Given the description of an element on the screen output the (x, y) to click on. 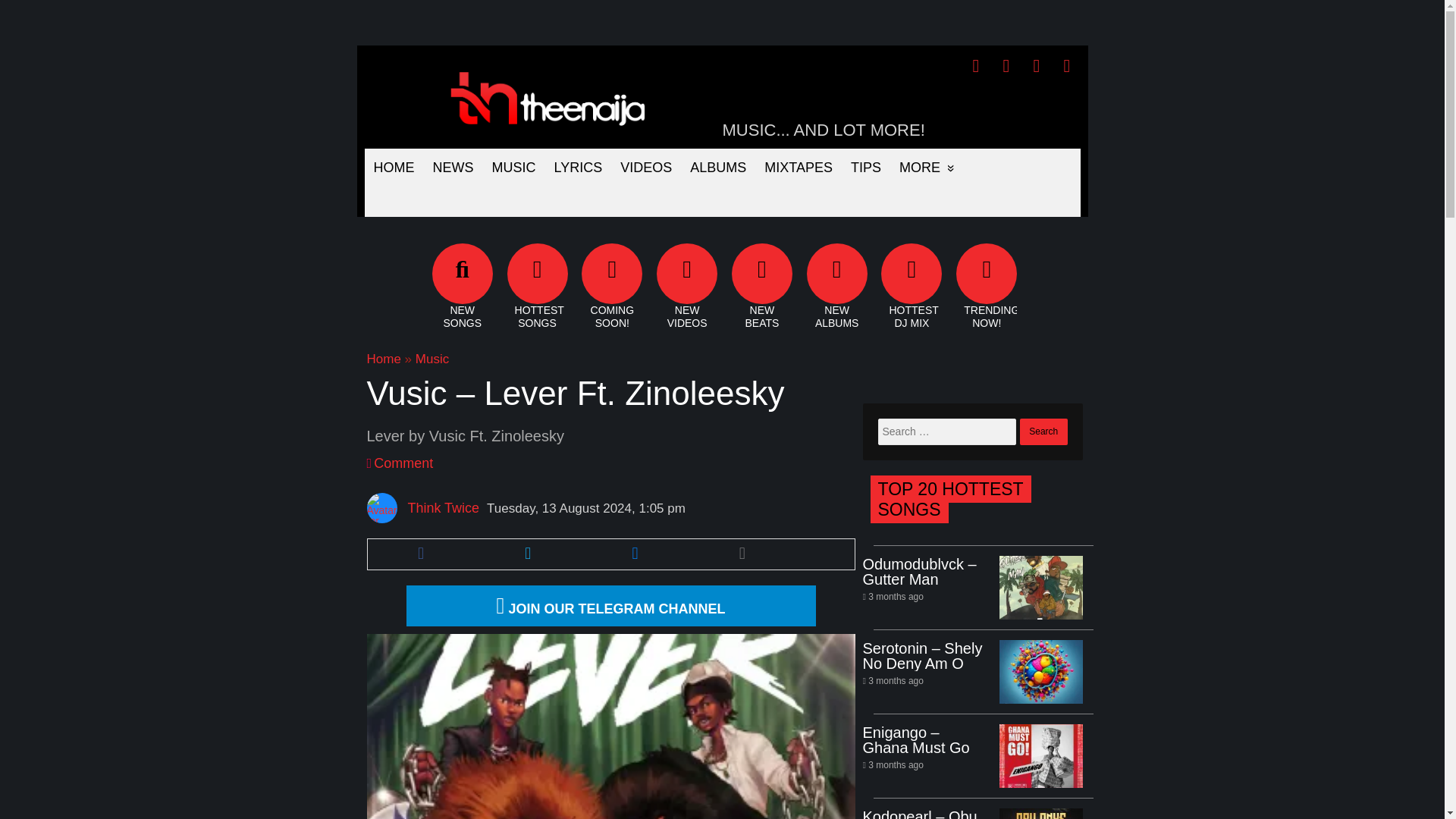
MUSIC (512, 167)
VIDEOS (646, 167)
ALBUMS (718, 167)
Follow theenaija.com on Twitter (1006, 66)
Follow theenaija.com on Instagram (1067, 66)
Gravatar for Think Twice (381, 508)
Music (431, 359)
Search (1043, 431)
Posts by Think Twice (443, 507)
Follow theenaija.com on Pinterest (1036, 66)
